Given the description of an element on the screen output the (x, y) to click on. 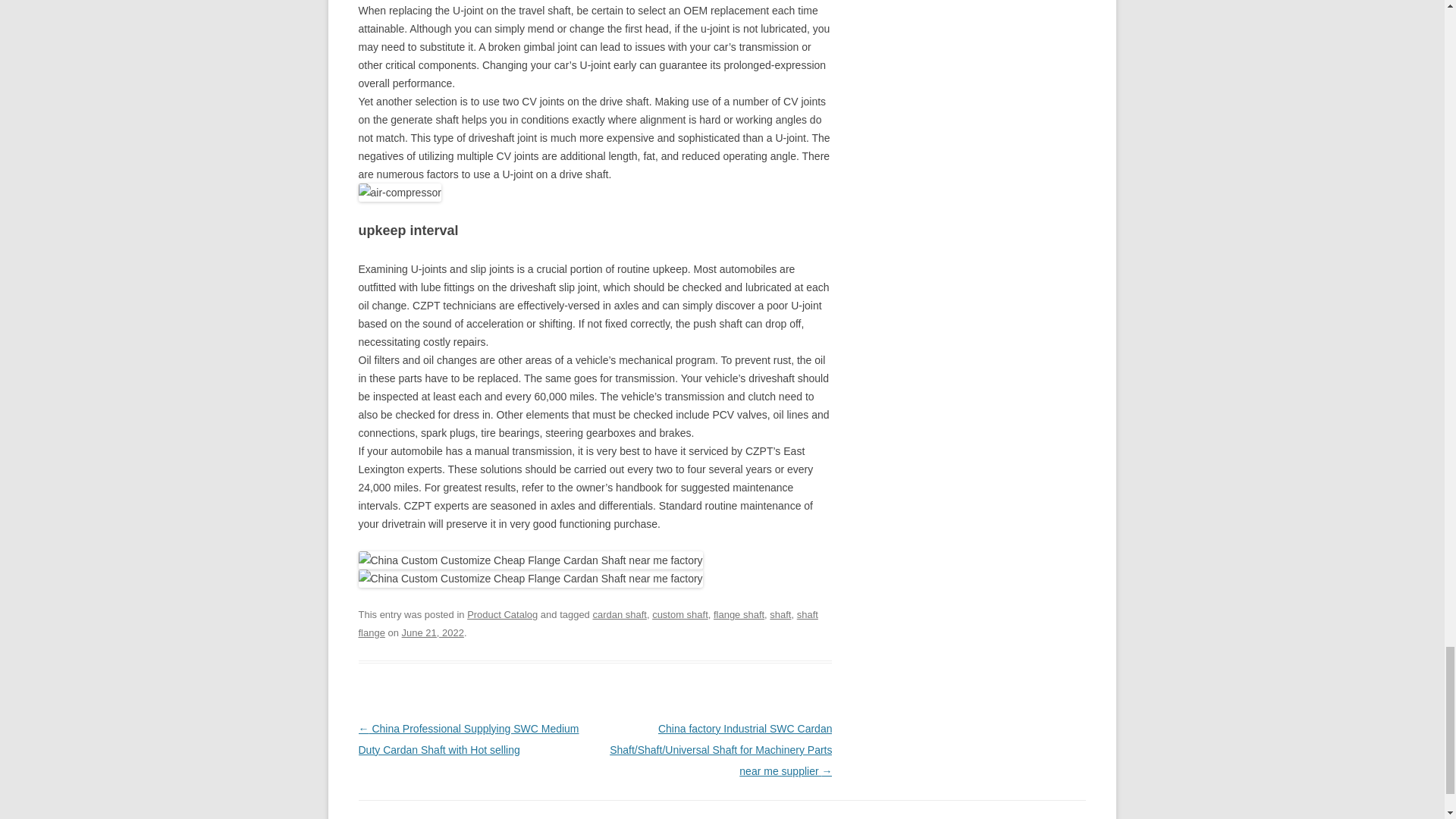
flange shaft (738, 614)
10:11 pm (432, 632)
shaft flange (587, 623)
June 21, 2022 (432, 632)
custom shaft (679, 614)
shaft (780, 614)
cardan shaft (619, 614)
Product Catalog (502, 614)
